Given the description of an element on the screen output the (x, y) to click on. 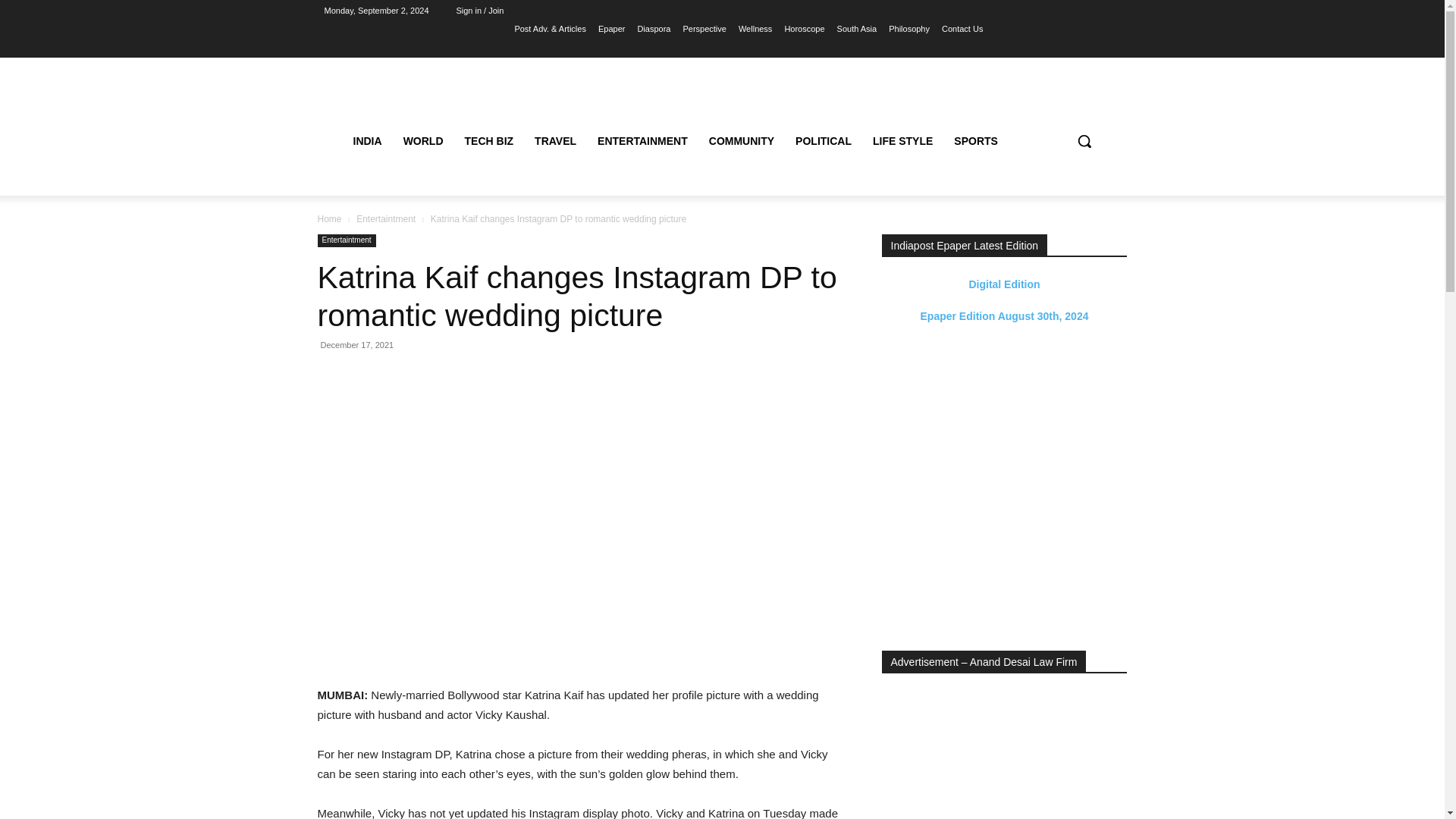
TECH BIZ (489, 140)
Home (328, 218)
Entertaintment (385, 218)
Horoscope (804, 28)
Philosophy (909, 28)
South Asia (857, 28)
Epaper (611, 28)
WORLD (423, 140)
POLITICAL (822, 140)
